Given the description of an element on the screen output the (x, y) to click on. 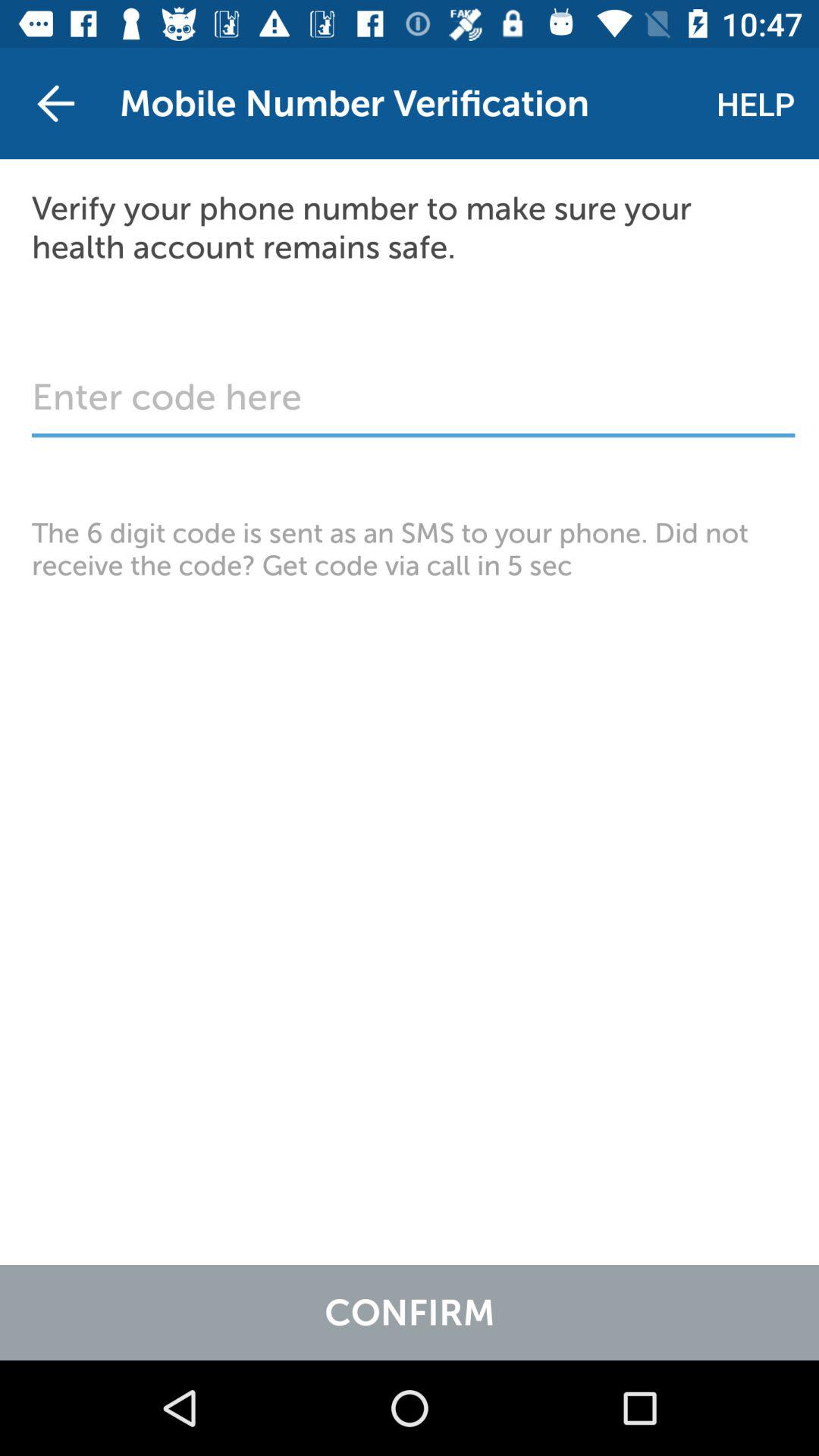
open the confirm (409, 1312)
